Given the description of an element on the screen output the (x, y) to click on. 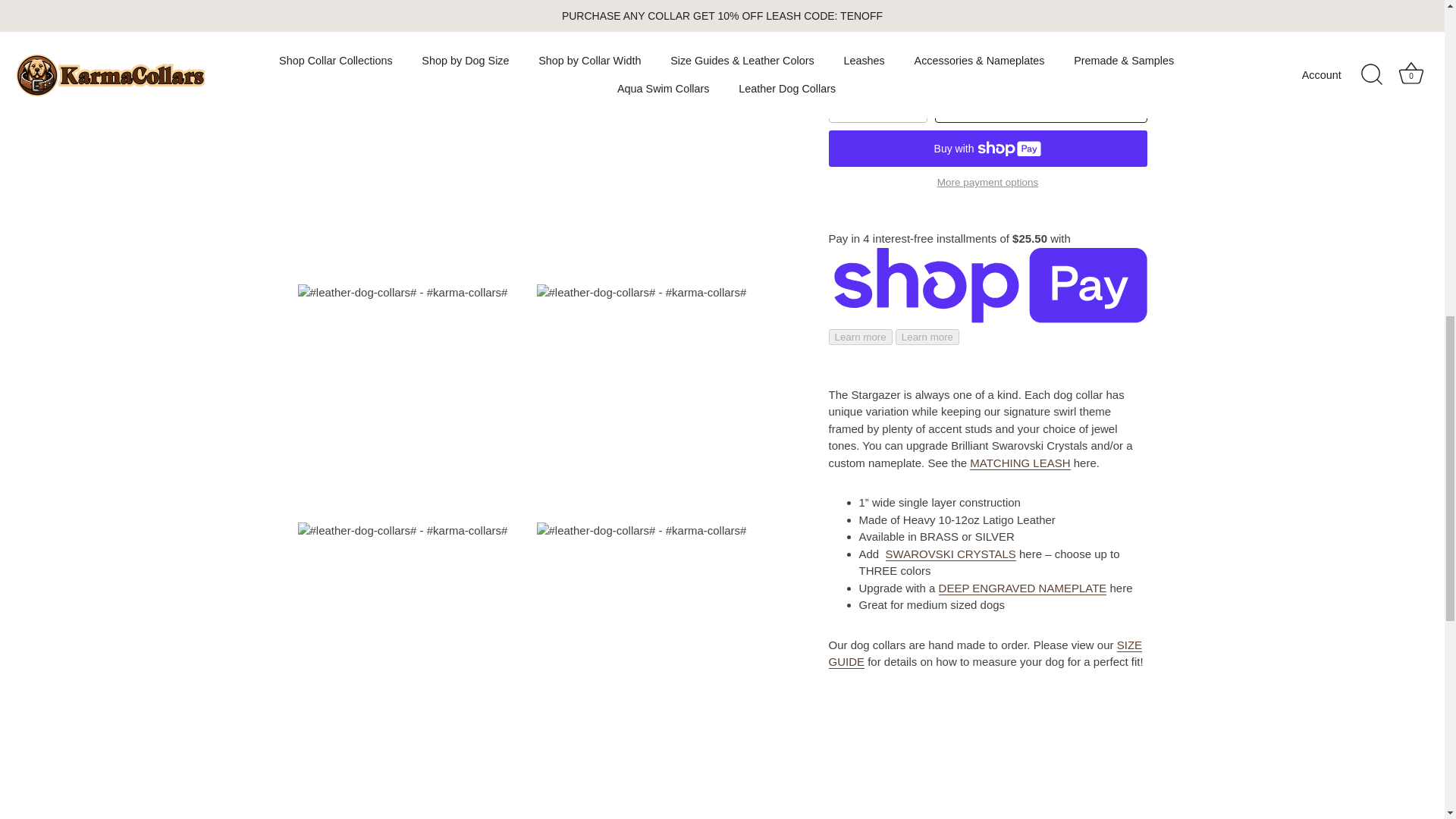
swarovski crystal upgrade (950, 321)
matching leash to stargazer collar (1019, 230)
Deep Engraved Nameplate for Dog collars (1022, 355)
